Given the description of an element on the screen output the (x, y) to click on. 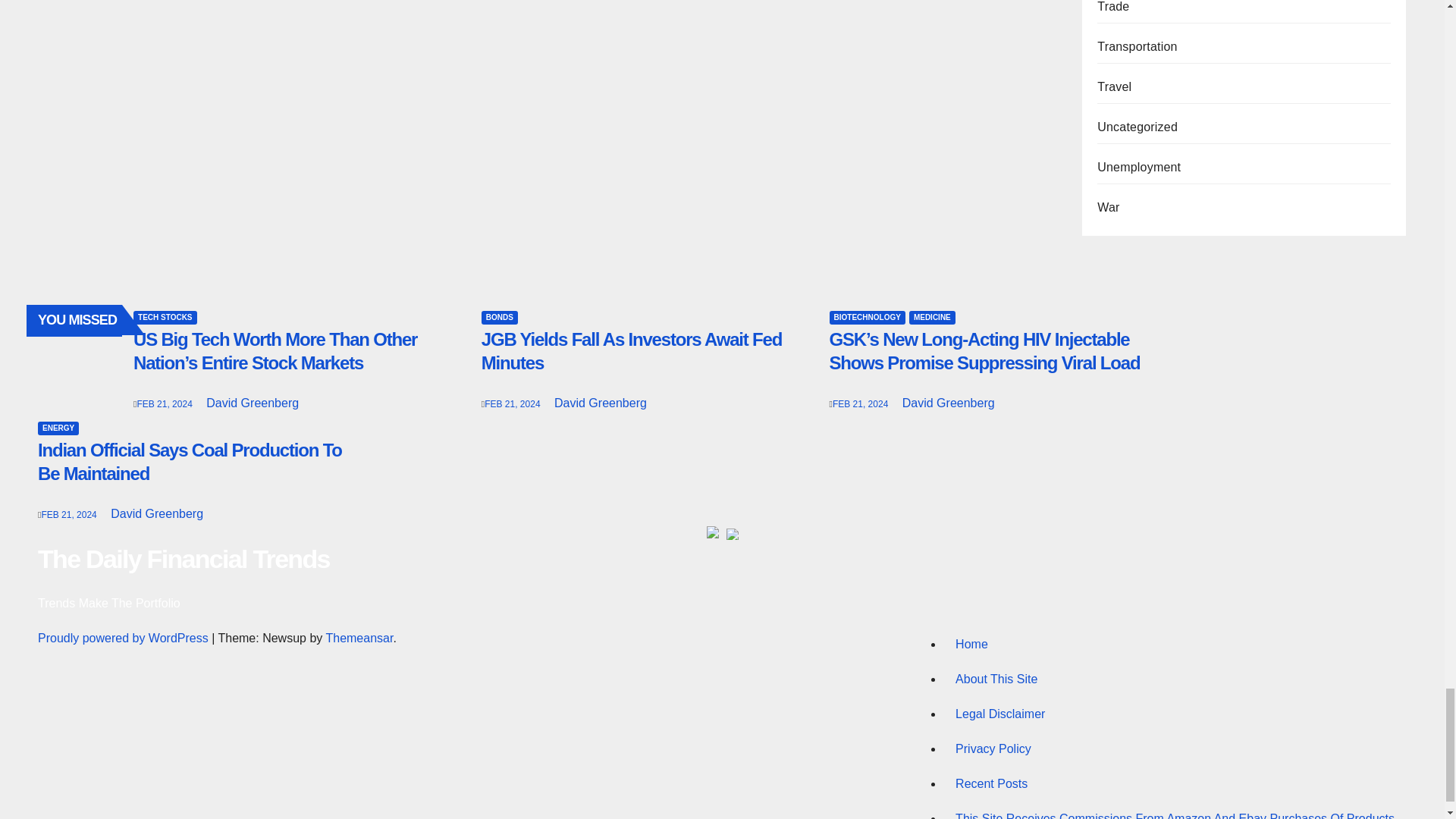
Permalink to: JGB Yields Fall As Investors Await Fed Minutes (631, 351)
Home (1174, 644)
